Given the description of an element on the screen output the (x, y) to click on. 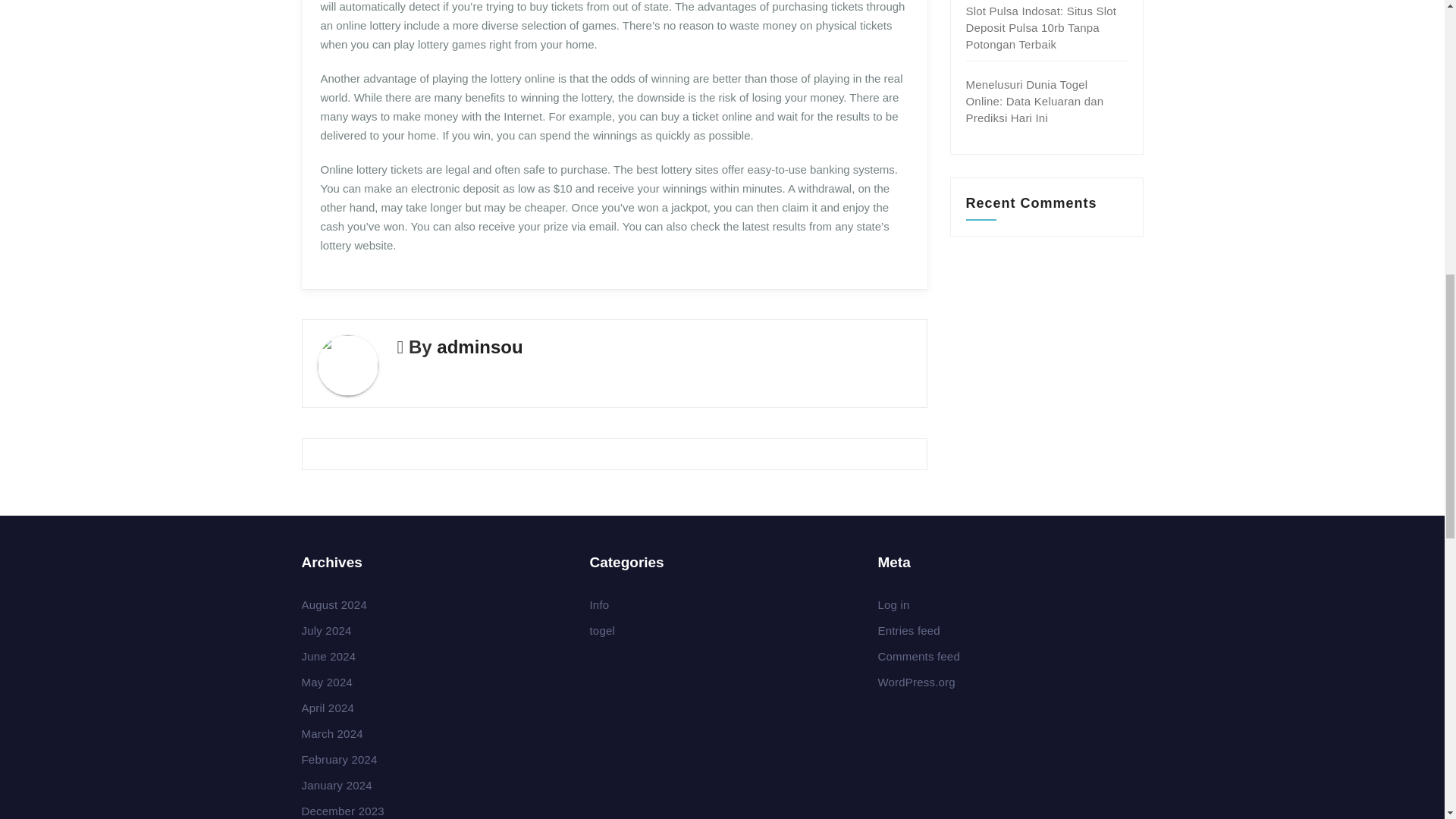
adminsou (479, 346)
July 2024 (326, 630)
May 2024 (326, 681)
June 2024 (328, 656)
March 2024 (331, 733)
February 2024 (339, 758)
August 2024 (333, 604)
January 2024 (336, 784)
